Given the description of an element on the screen output the (x, y) to click on. 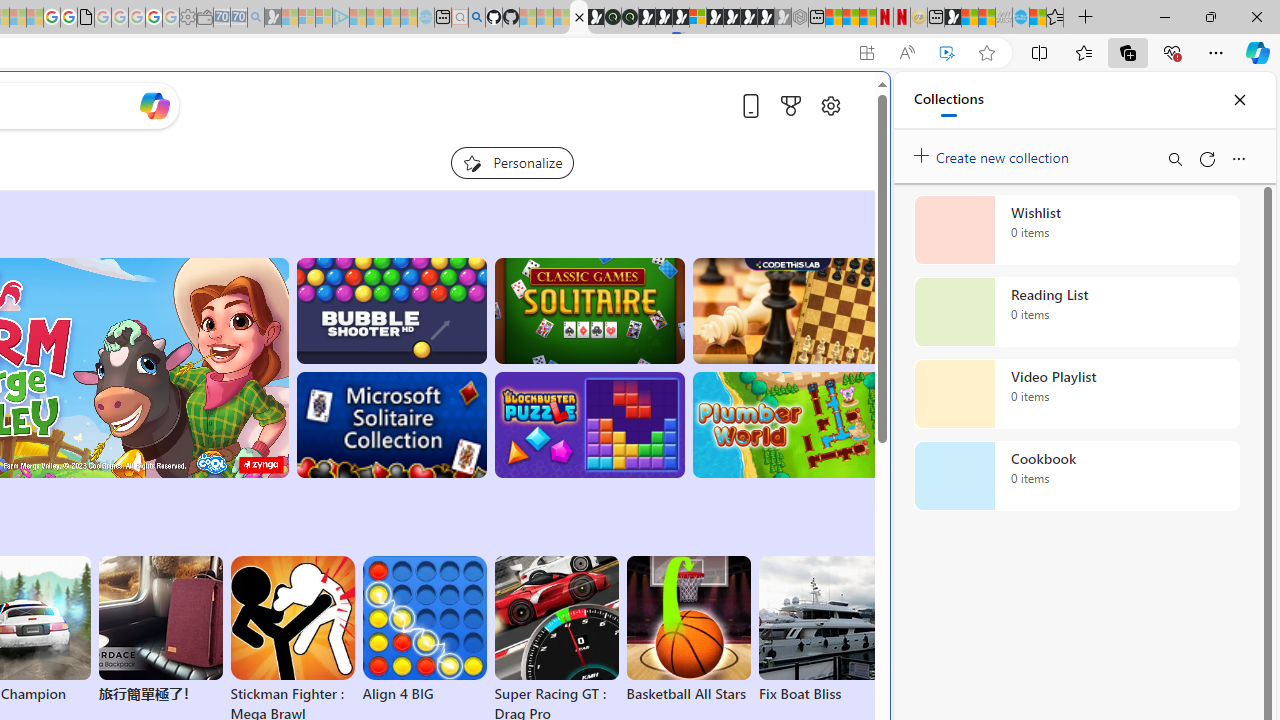
Future Focus Report 2024 (629, 17)
Master Chess (787, 310)
Fix Boat Bliss (820, 694)
